Given the description of an element on the screen output the (x, y) to click on. 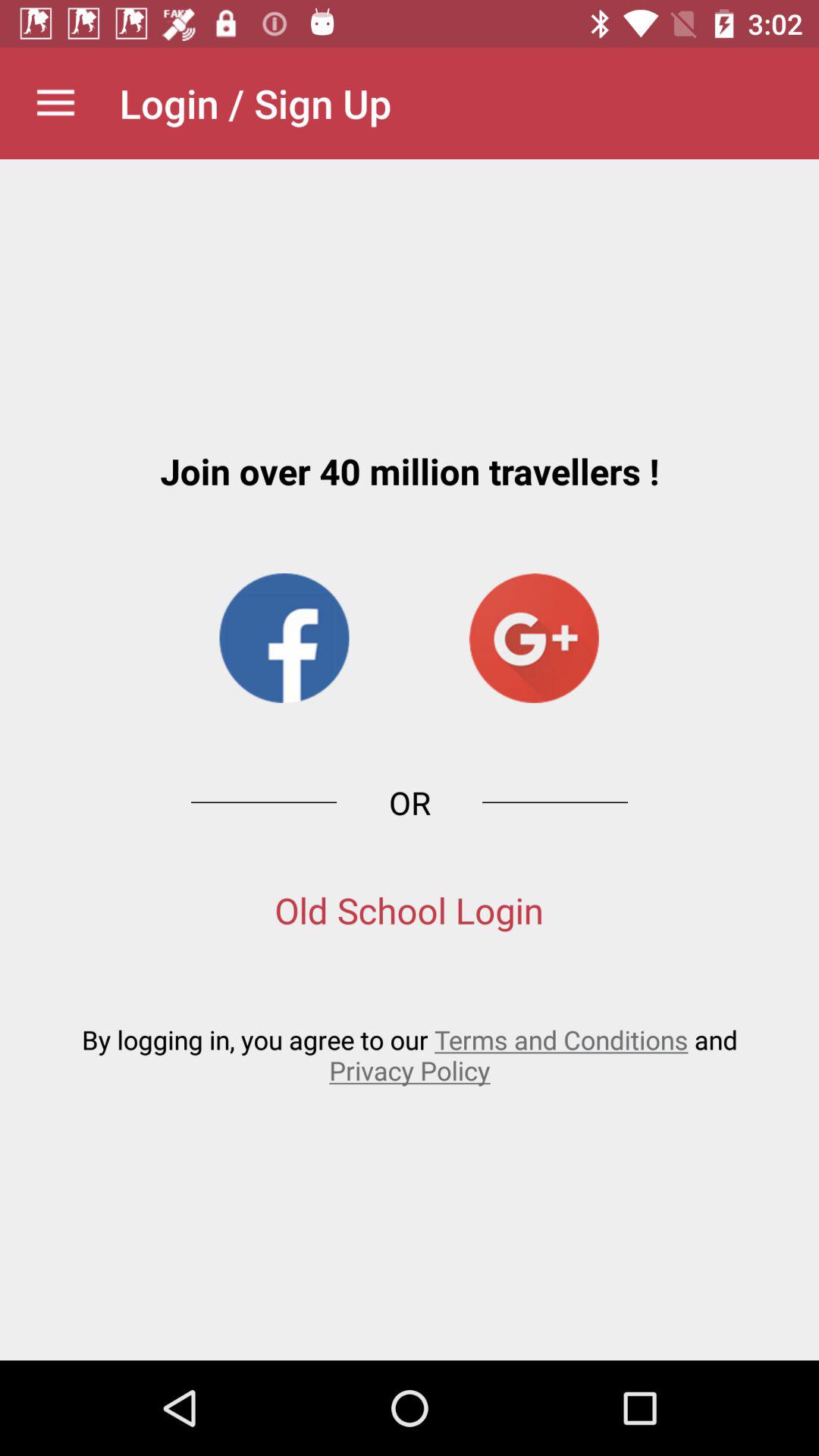
login through facebook (284, 637)
